Given the description of an element on the screen output the (x, y) to click on. 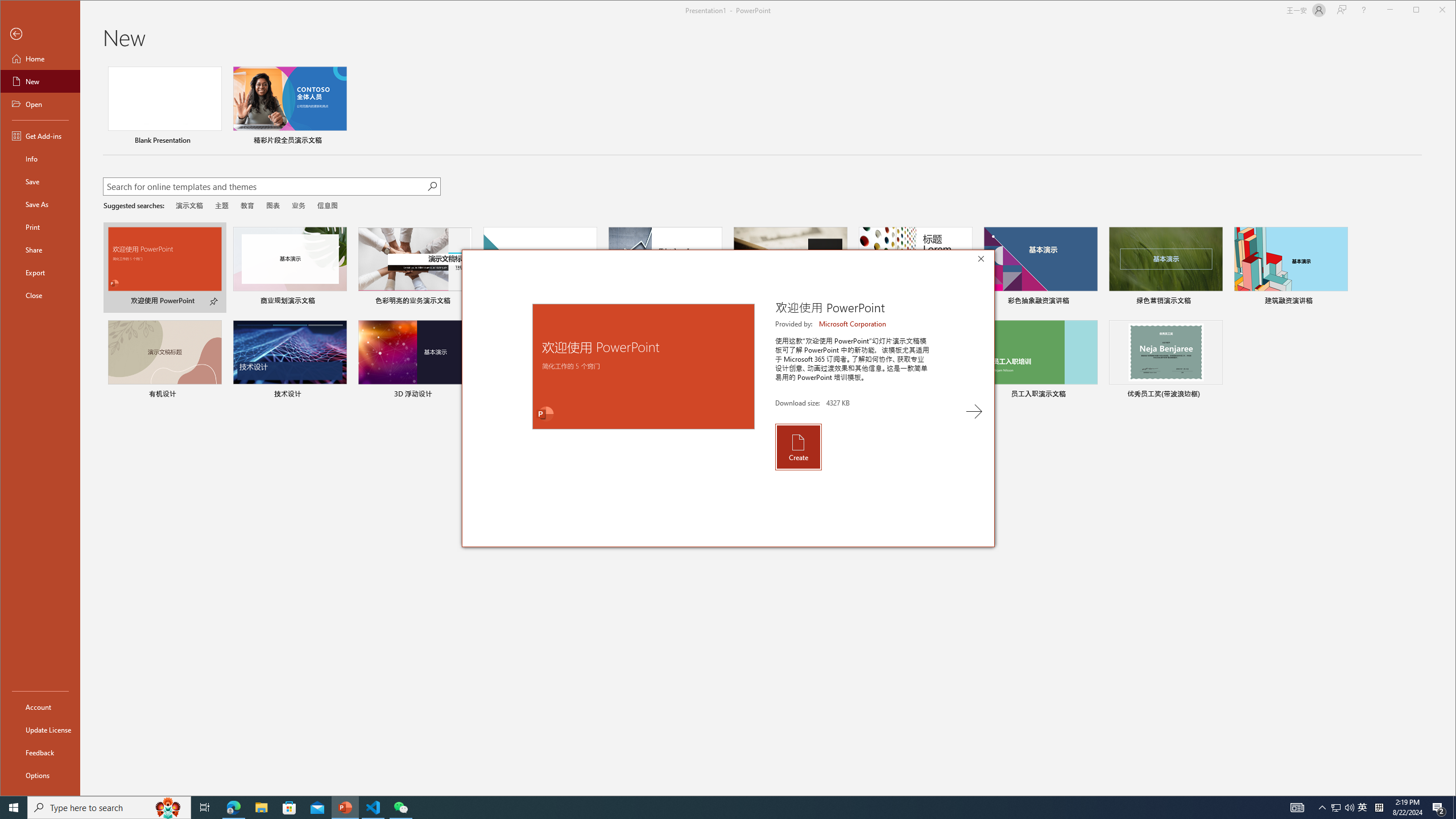
Start searching (1362, 807)
Info (431, 185)
Microsoft Edge - 1 running window (40, 158)
Running applications (233, 807)
